Given the description of an element on the screen output the (x, y) to click on. 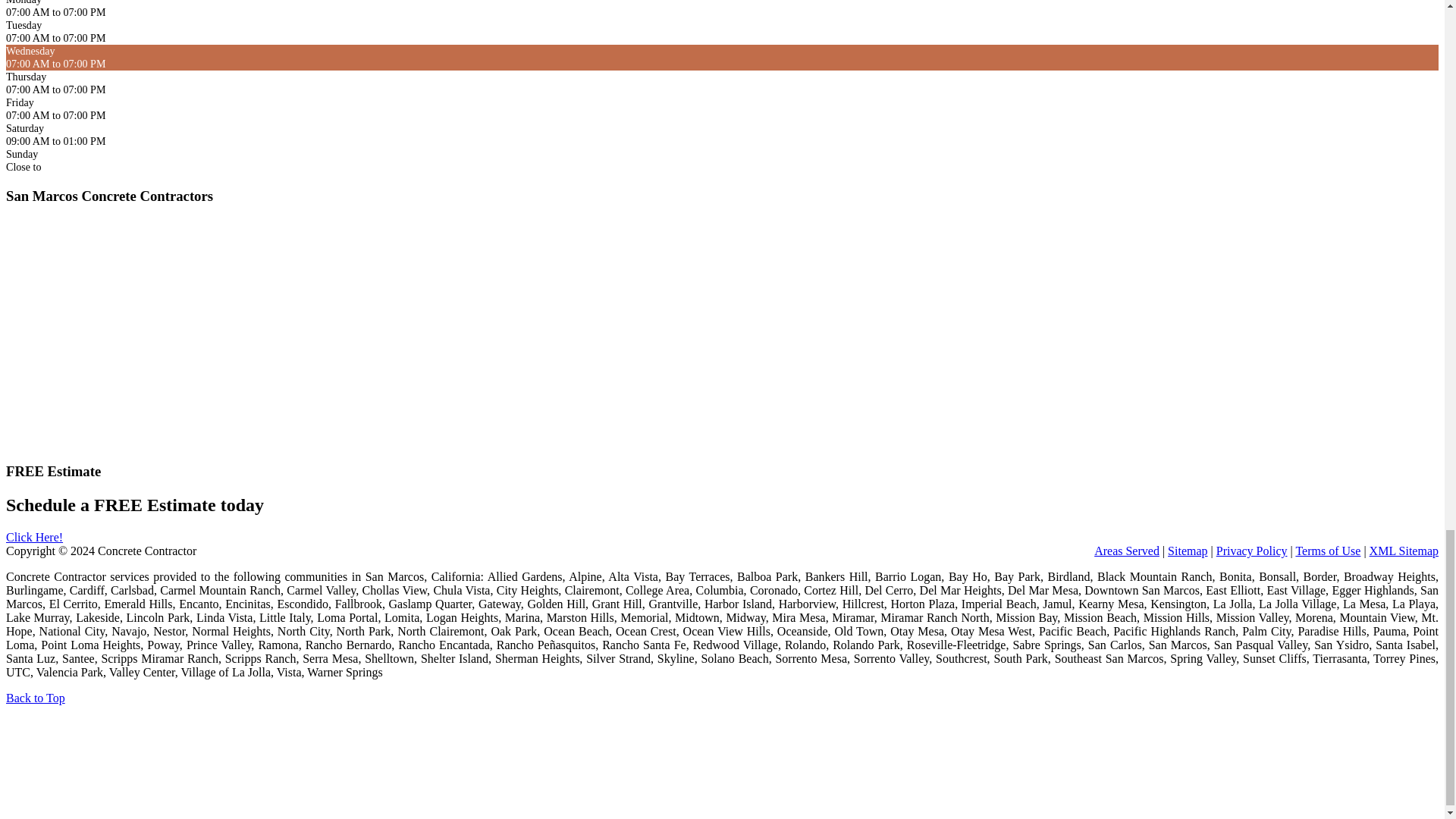
Terms of Use (1327, 550)
Privacy Policy (1251, 550)
Sitemap (1187, 550)
Areas Served (1126, 550)
FREE Estimate (33, 536)
